Given the description of an element on the screen output the (x, y) to click on. 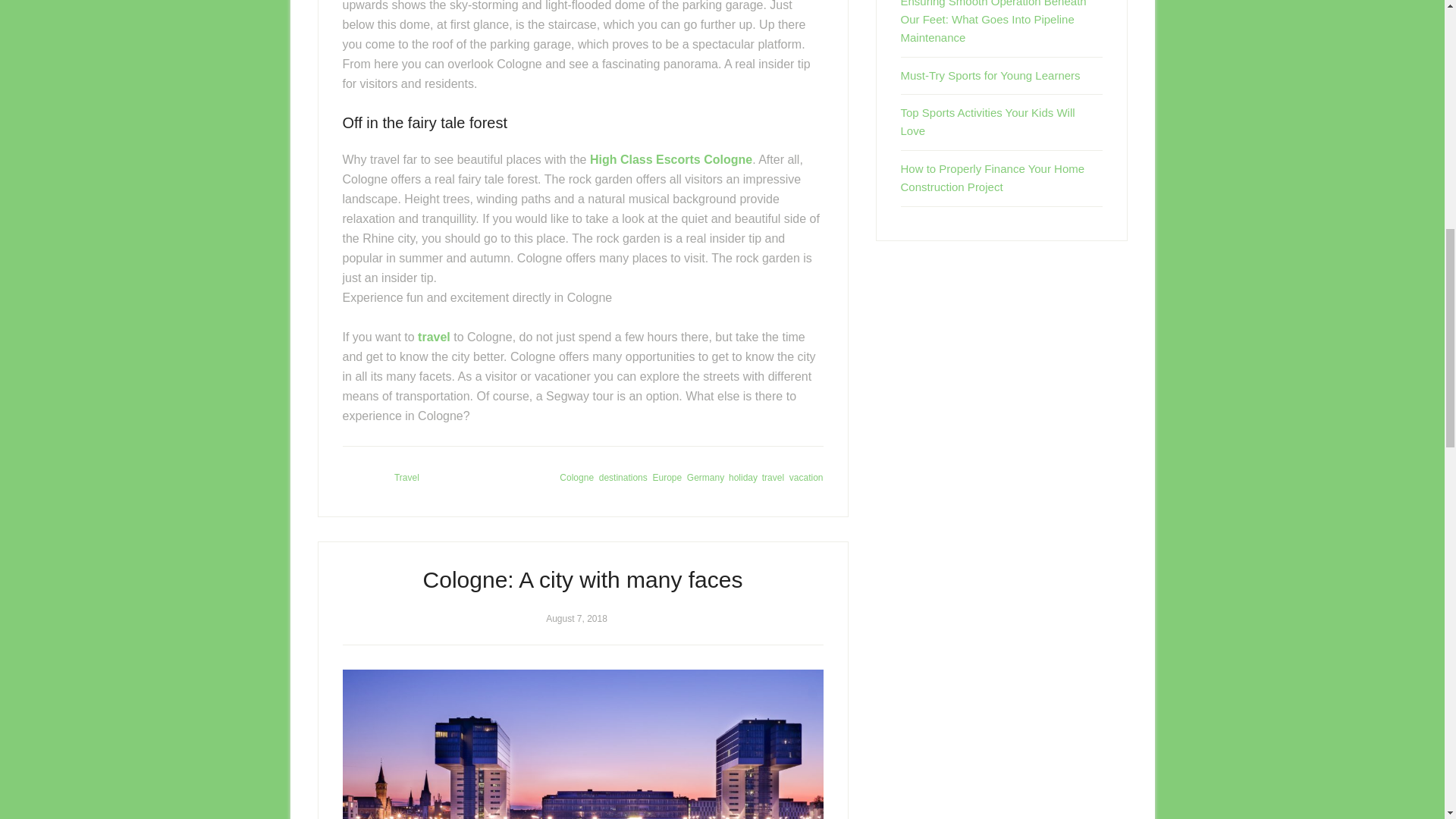
vacation (806, 477)
Germany (705, 477)
destinations (622, 477)
travel (772, 477)
travel (433, 336)
holiday (743, 477)
Travel (406, 477)
High Class Escorts Cologne (670, 159)
Europe (666, 477)
Cologne: A city with many faces (582, 579)
